Given the description of an element on the screen output the (x, y) to click on. 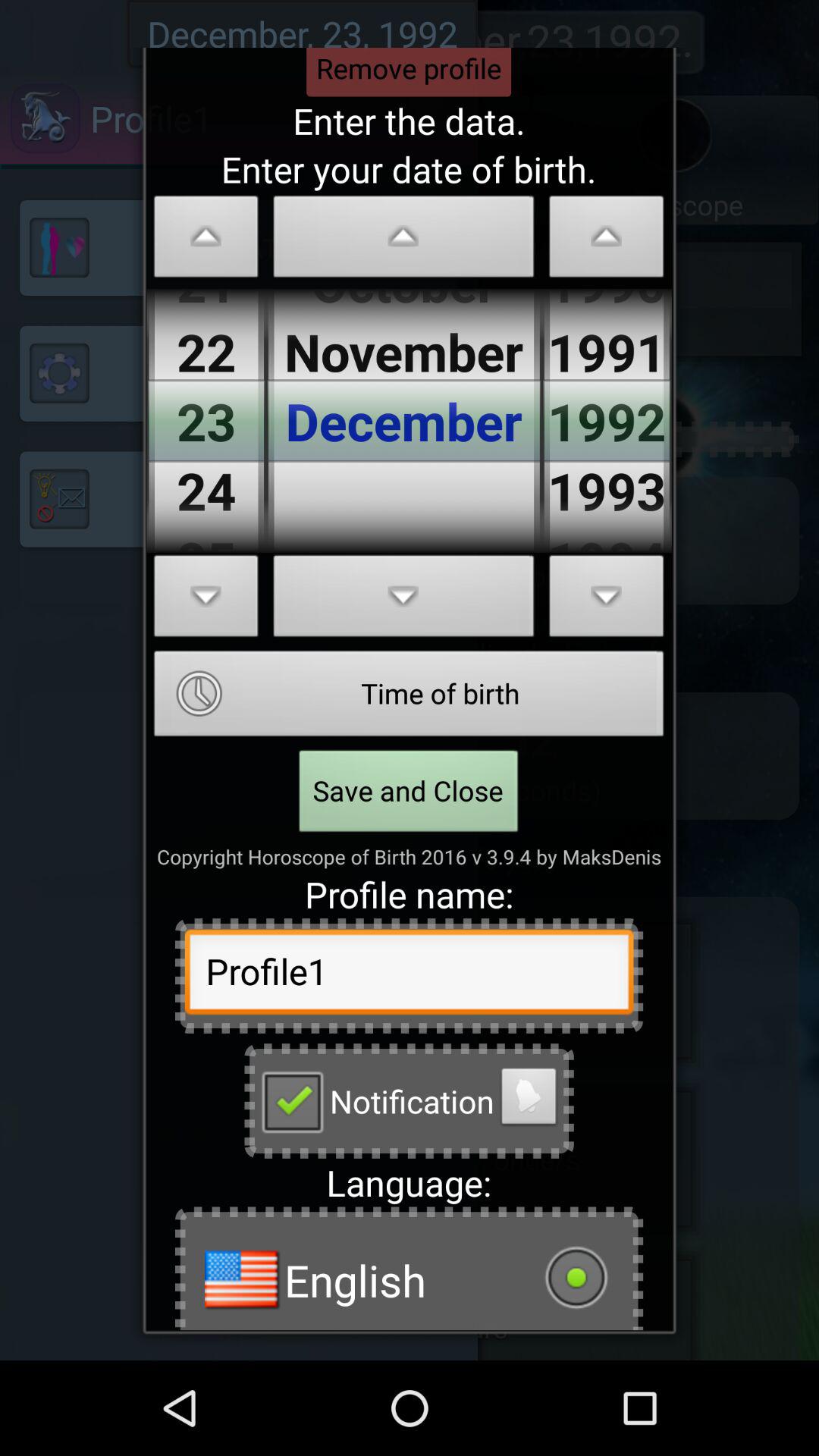
scroll number (206, 240)
